Given the description of an element on the screen output the (x, y) to click on. 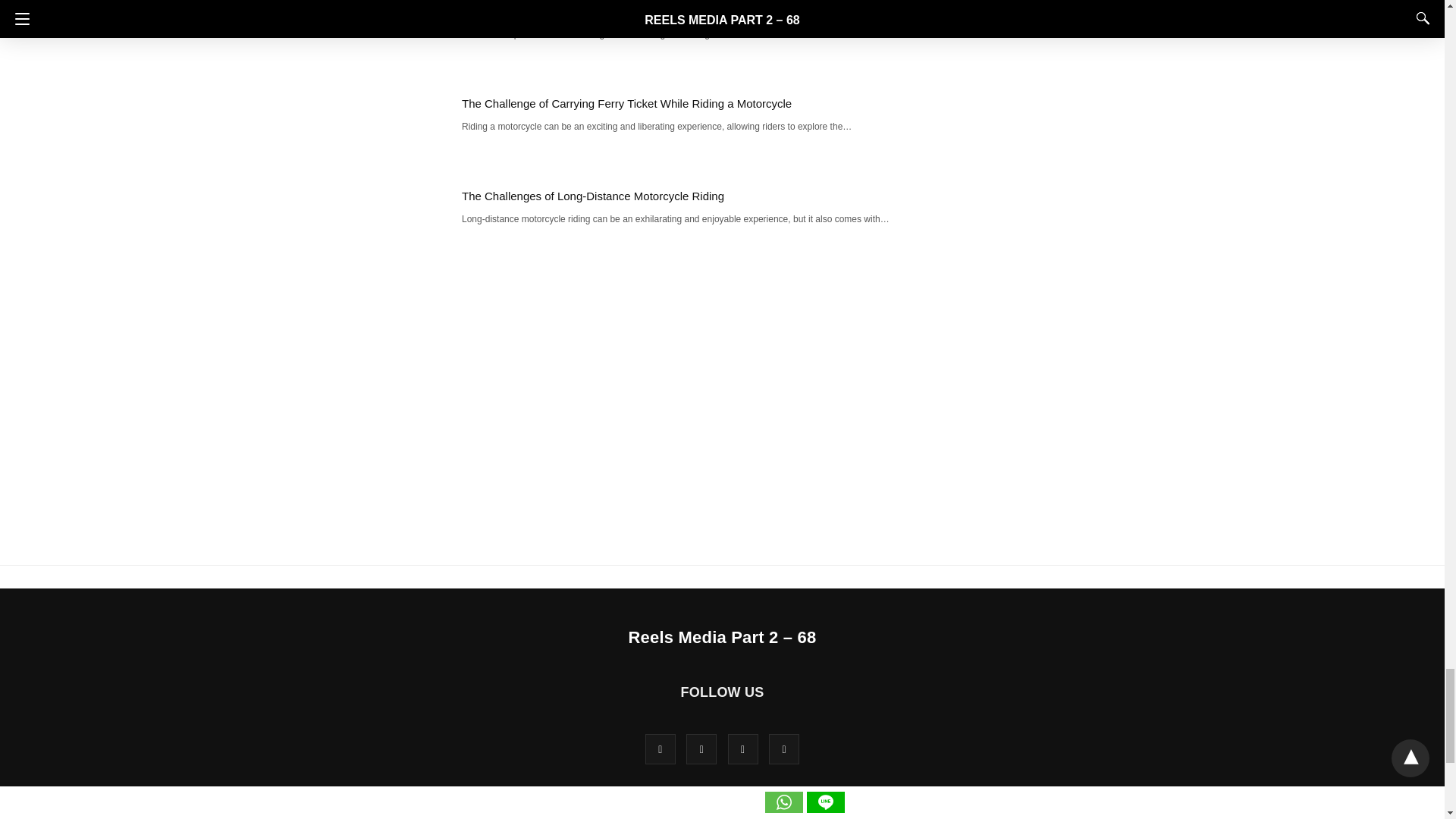
Home 4 (690, 812)
The Challenges of Long-Distance Motorcycle Riding (592, 195)
Home 3 (646, 812)
Home 1 (559, 812)
Home 5 (735, 812)
Sample Page (871, 812)
Home Page AMP (797, 812)
Home 2 (602, 812)
